Given the description of an element on the screen output the (x, y) to click on. 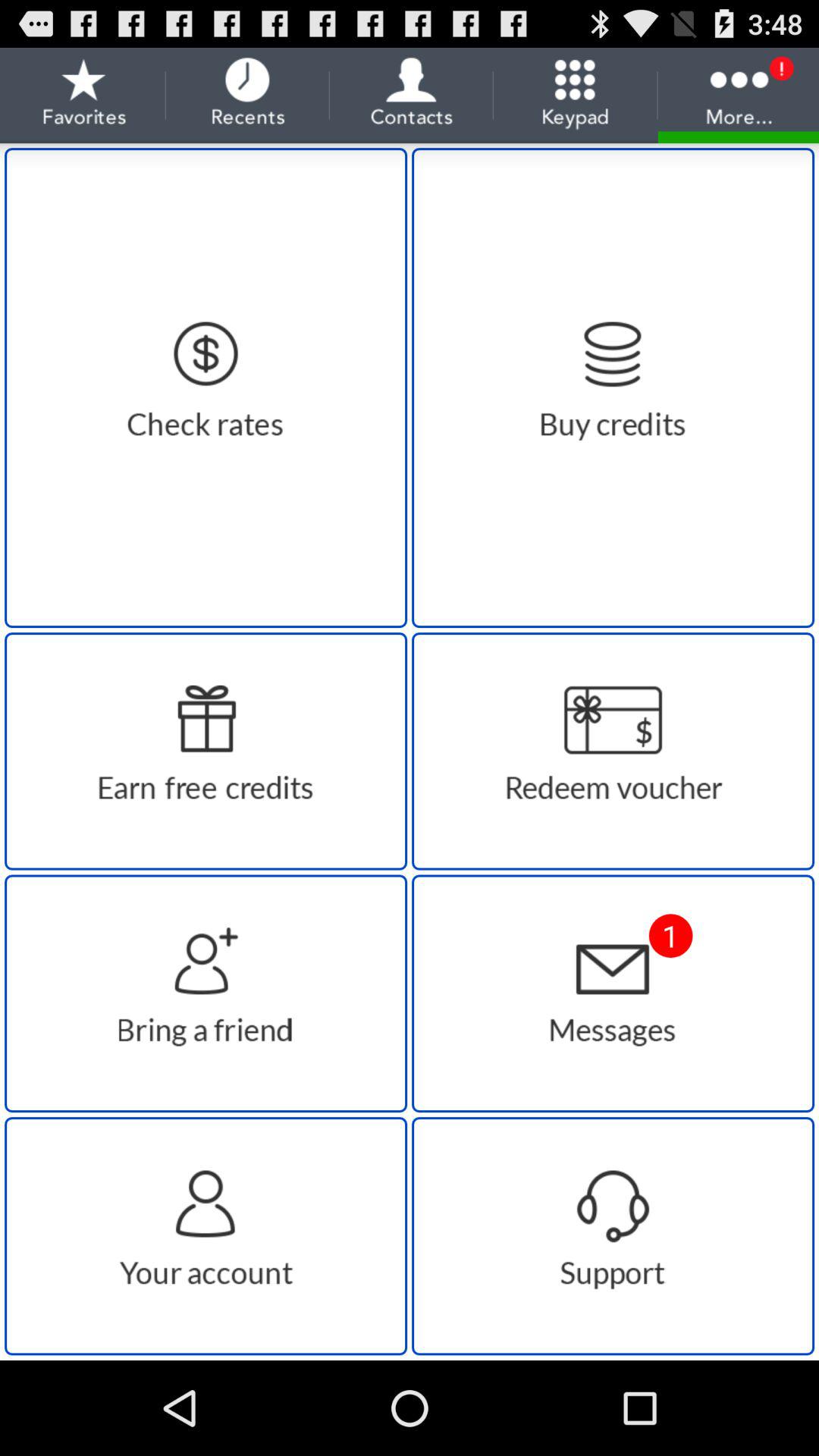
add contacts (205, 993)
